Given the description of an element on the screen output the (x, y) to click on. 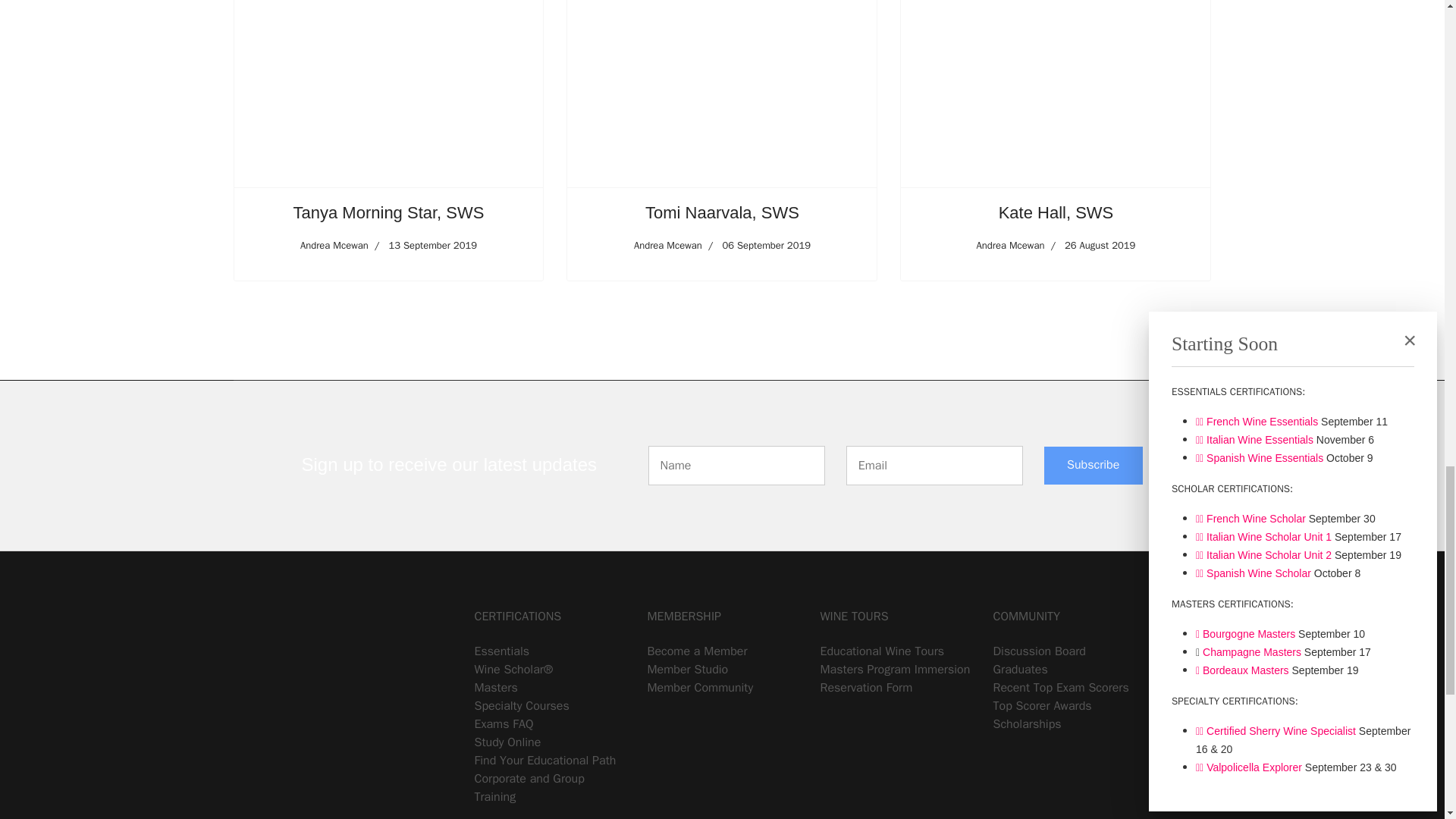
Published: 26 August 2019 (1089, 245)
Published: 06 September 2019 (755, 245)
Subscribe (1092, 465)
Written by: Andrea Mcewan (667, 245)
Written by: Andrea Mcewan (1010, 245)
Published: 13 September 2019 (422, 245)
Written by: Andrea Mcewan (333, 245)
